Given the description of an element on the screen output the (x, y) to click on. 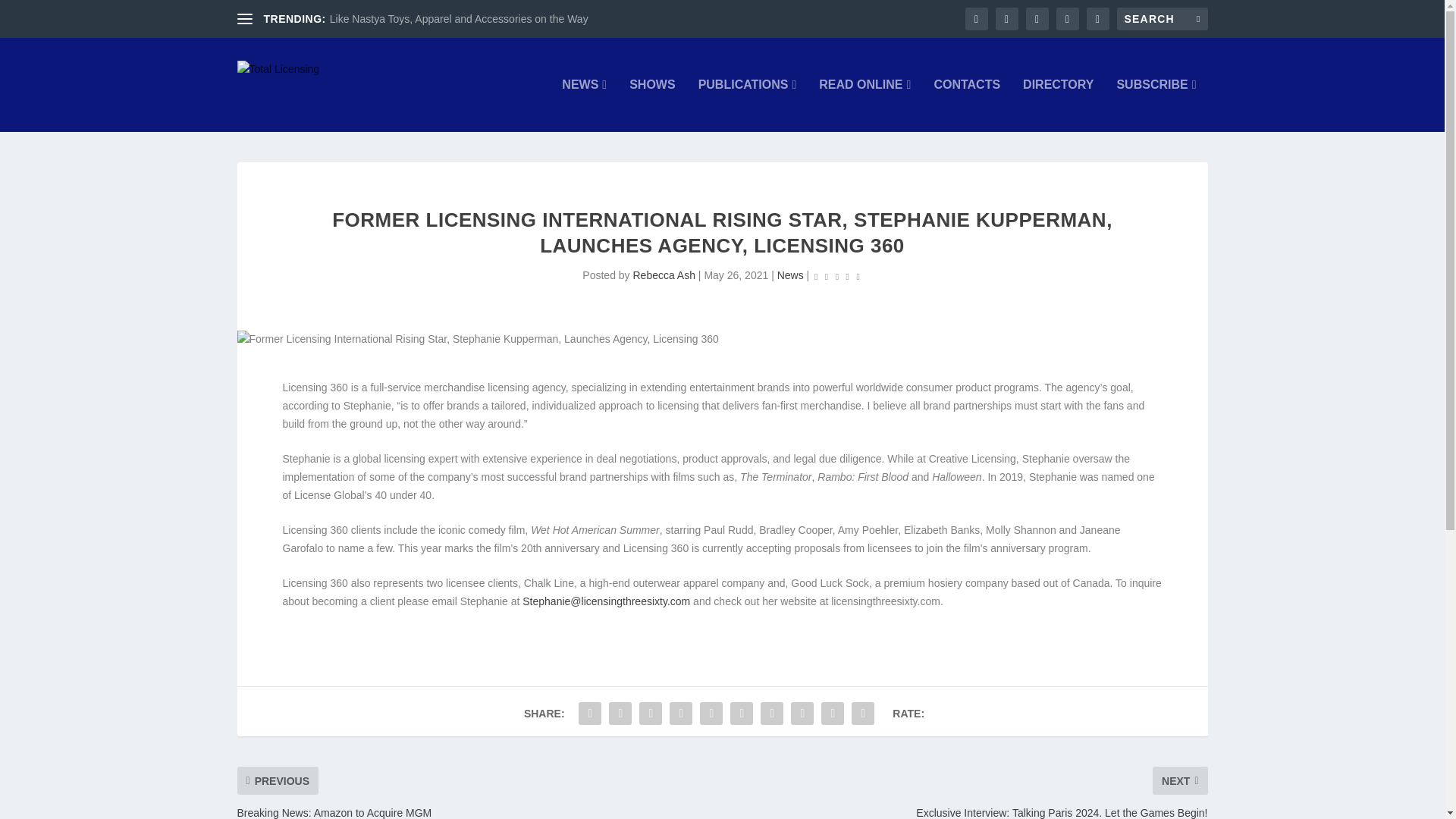
PUBLICATIONS (747, 104)
Like Nastya Toys, Apparel and Accessories on the Way (459, 19)
Search for: (1161, 18)
